Given the description of an element on the screen output the (x, y) to click on. 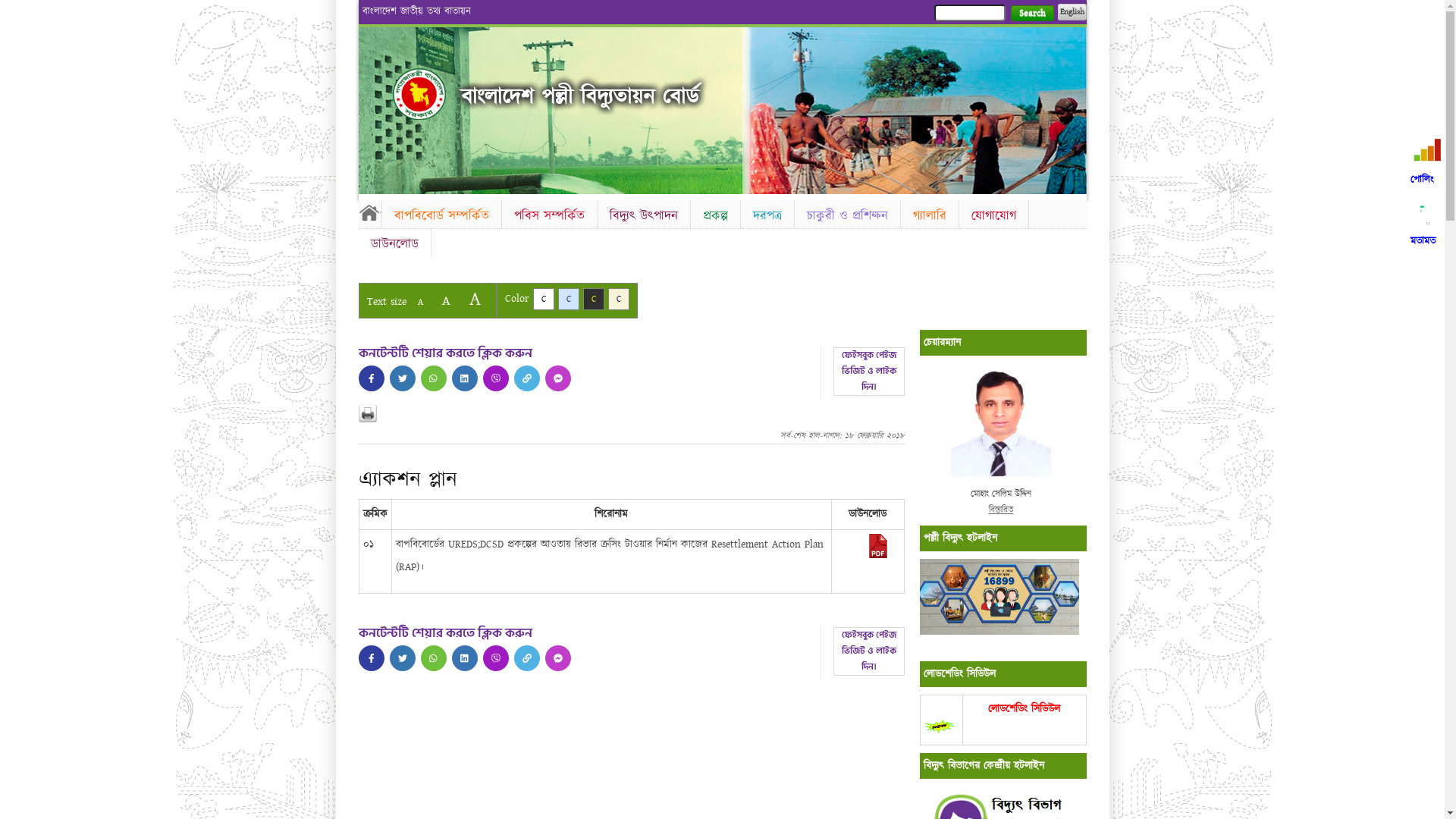
English Element type: text (1071, 11)
A Element type: text (419, 301)
Search Element type: text (1031, 13)
Home Element type: hover (368, 211)
C Element type: text (542, 299)
C Element type: text (592, 299)
A Element type: text (445, 300)
Home Element type: hover (418, 93)
A Element type: text (474, 298)
C Element type: text (568, 299)
C Element type: text (618, 299)
